Given the description of an element on the screen output the (x, y) to click on. 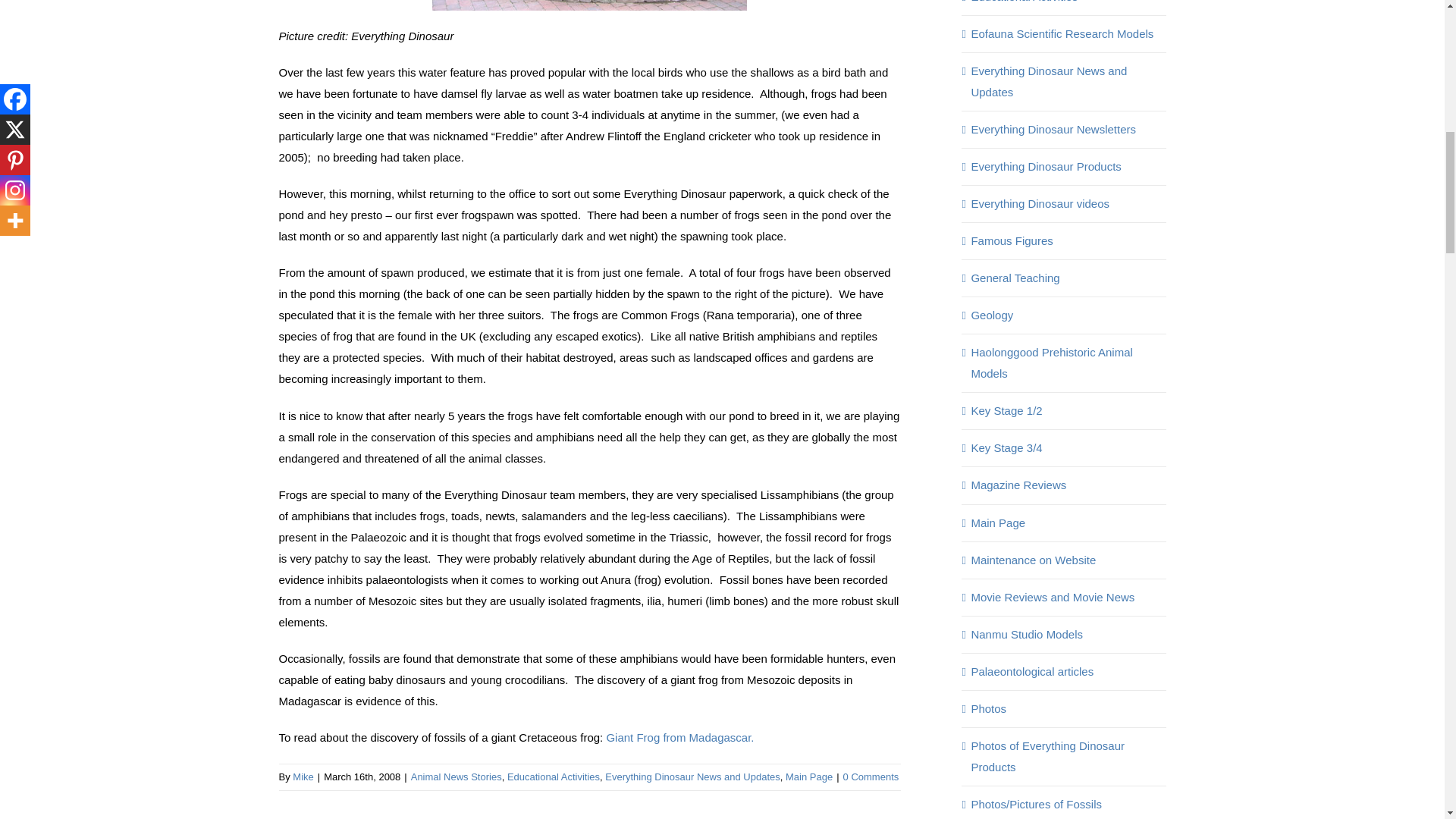
Giant Frog from Madagascar. (679, 737)
Posts by Mike (302, 776)
Educational Activities (552, 776)
0 Comments (871, 776)
Animal News Stories (456, 776)
Mike (302, 776)
Main Page (809, 776)
Everything Dinosaur News and Updates (692, 776)
